Given the description of an element on the screen output the (x, y) to click on. 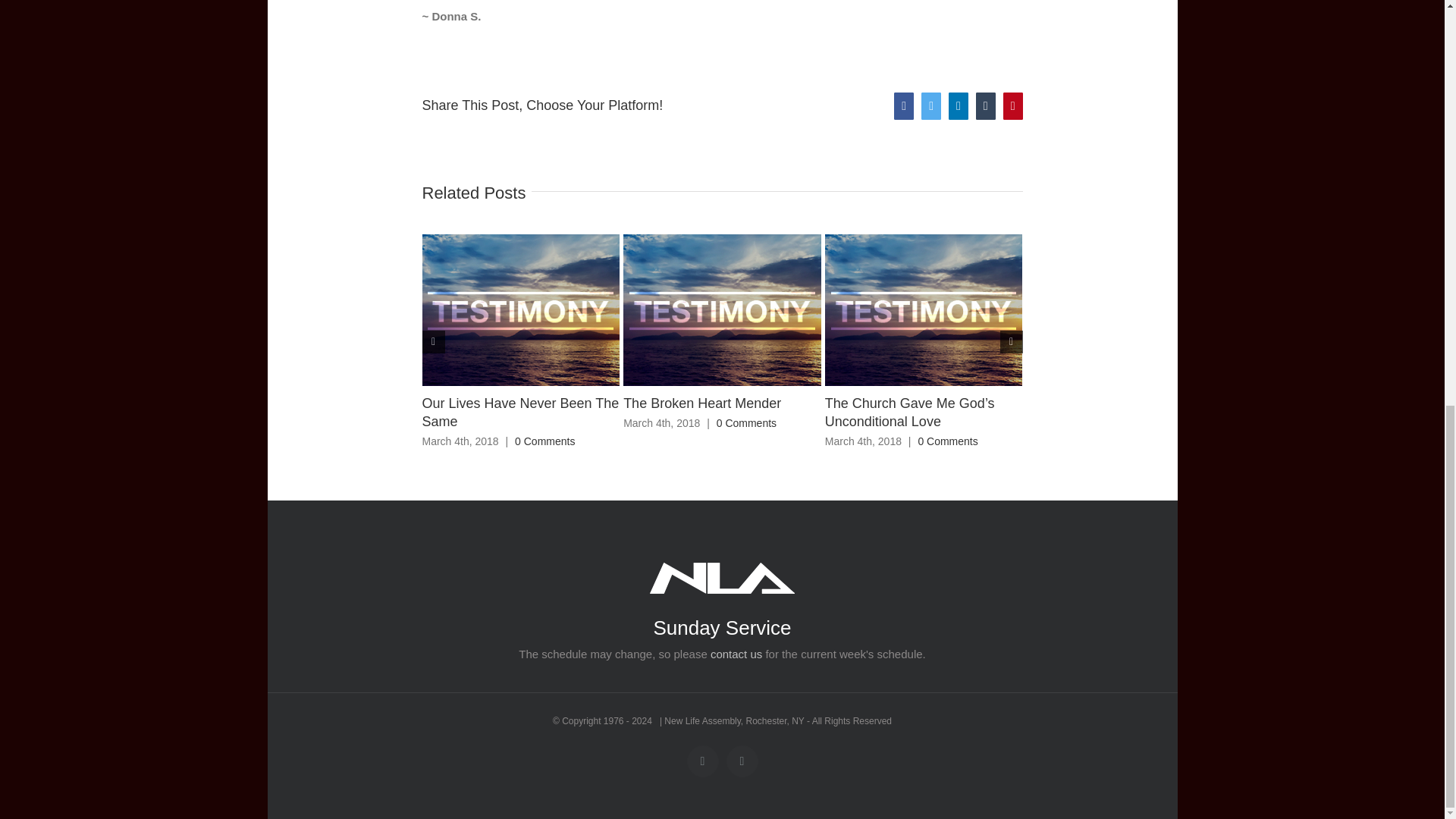
The Broken Heart Mender (701, 403)
Our Lives Have Never Been The Same (520, 412)
